Given the description of an element on the screen output the (x, y) to click on. 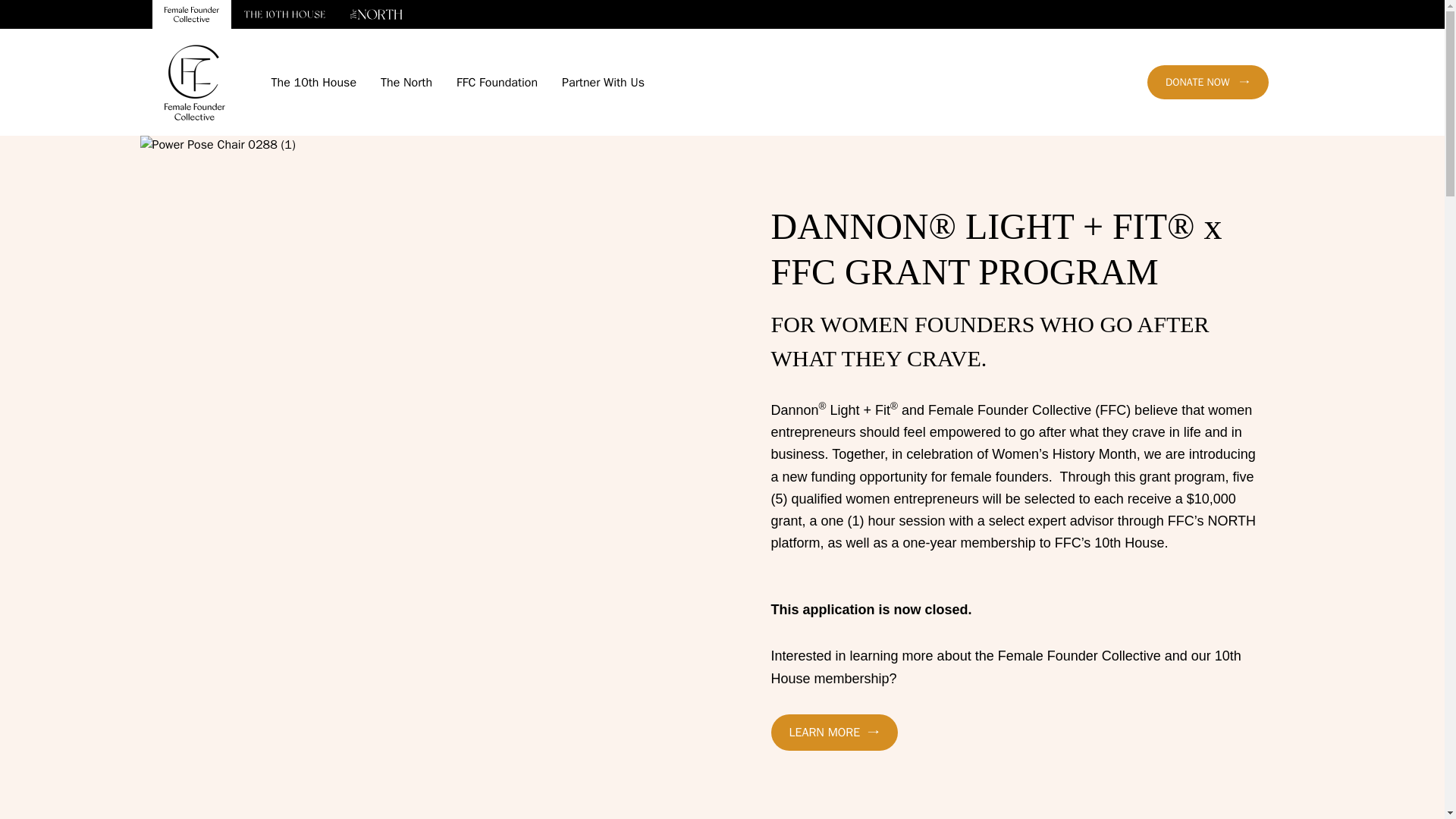
The North (406, 81)
FFC Foundation (497, 81)
The 10th House (313, 81)
Partner With Us (603, 81)
